Given the description of an element on the screen output the (x, y) to click on. 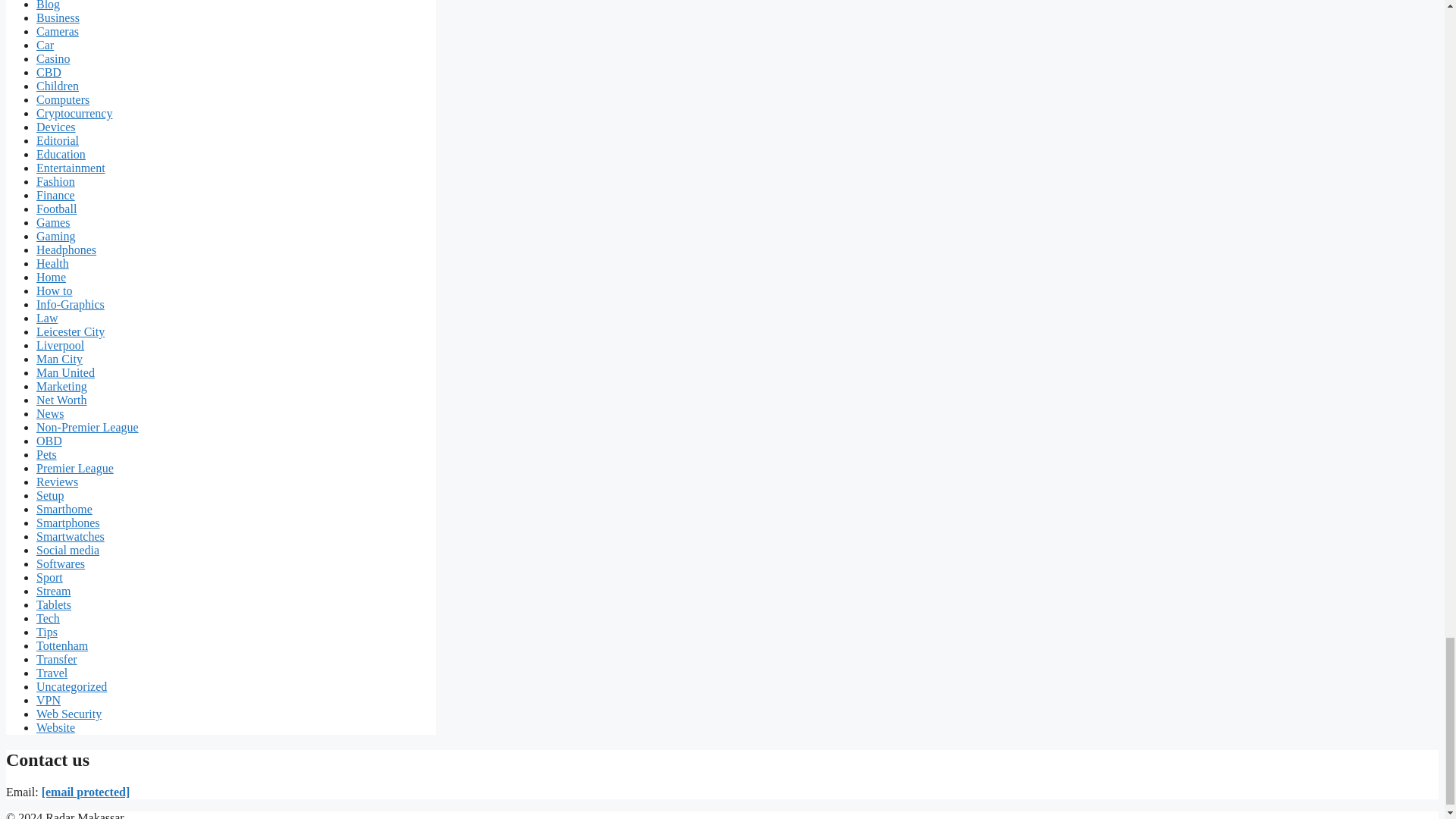
Car (44, 44)
CBD (48, 72)
Business (58, 17)
Casino (52, 58)
Blog (47, 5)
Cameras (57, 31)
